Given the description of an element on the screen output the (x, y) to click on. 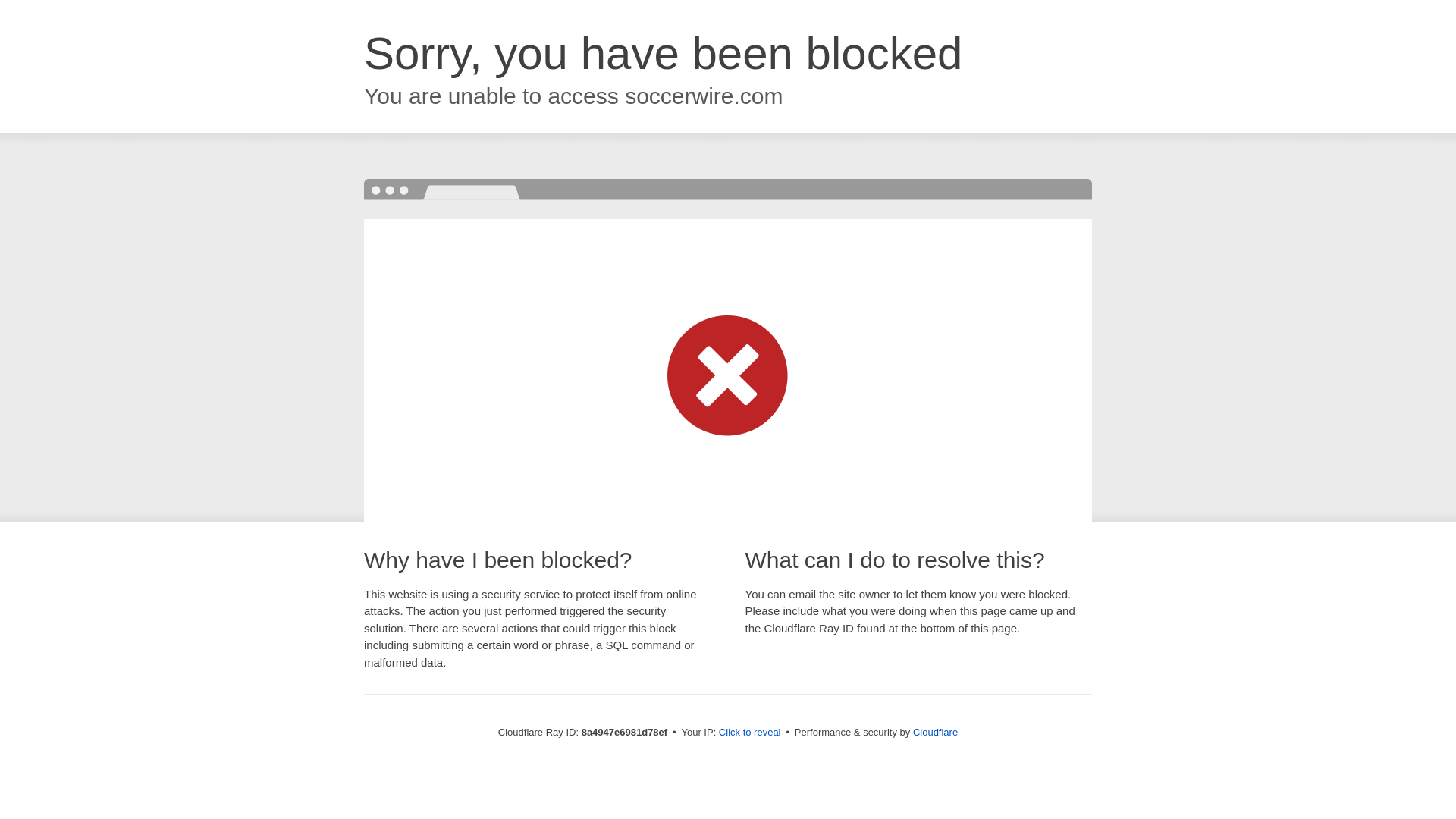
Cloudflare (935, 731)
Click to reveal (749, 732)
